Given the description of an element on the screen output the (x, y) to click on. 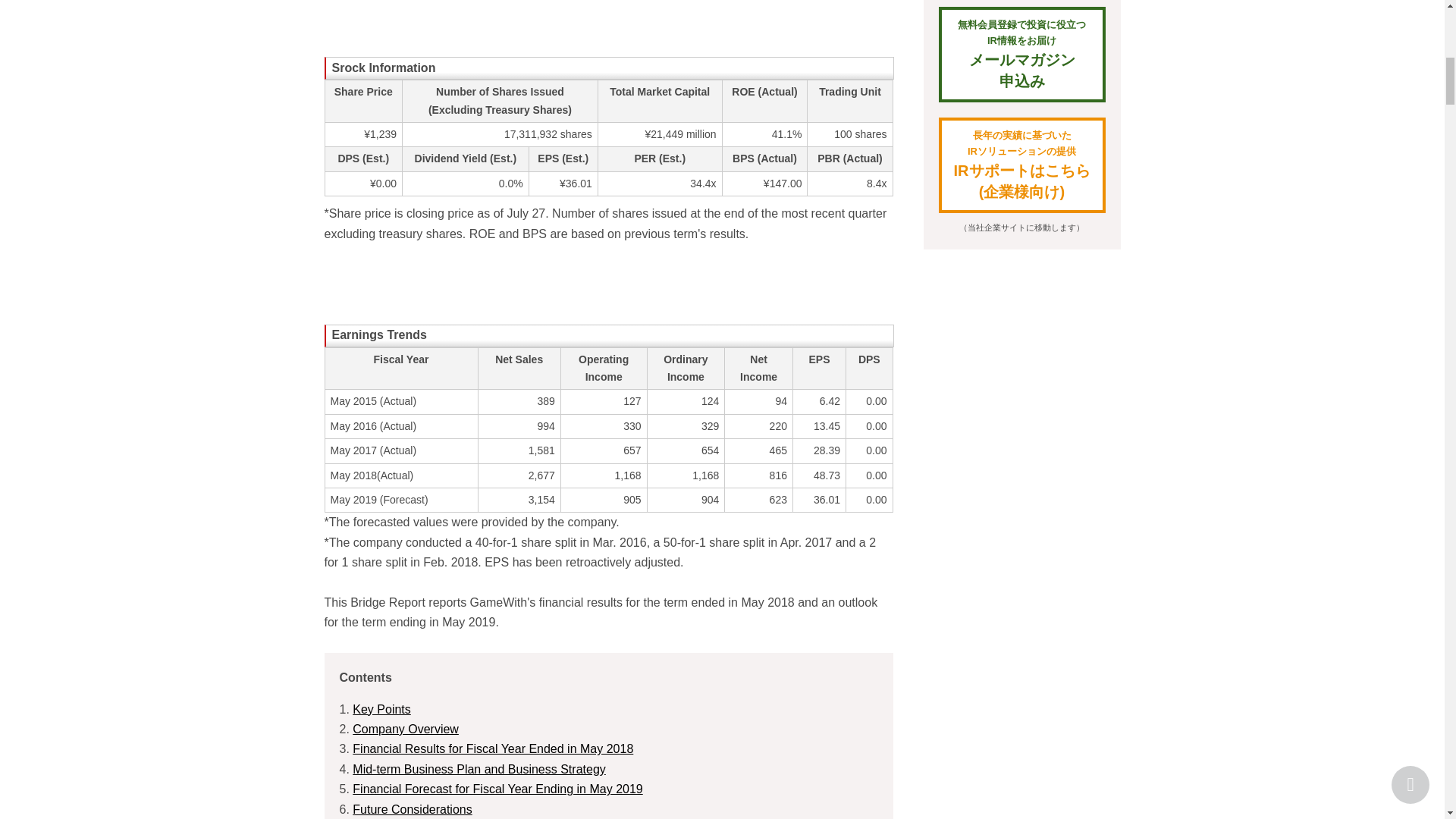
Key Points (381, 708)
Financial Forecast for Fiscal Year Ending in May 2019 (497, 788)
Mid-term Business Plan and Business Strategy (478, 768)
Financial Results for Fiscal Year Ended in May 2018 (492, 748)
Future Considerations (411, 809)
Company Overview (405, 728)
